Given the description of an element on the screen output the (x, y) to click on. 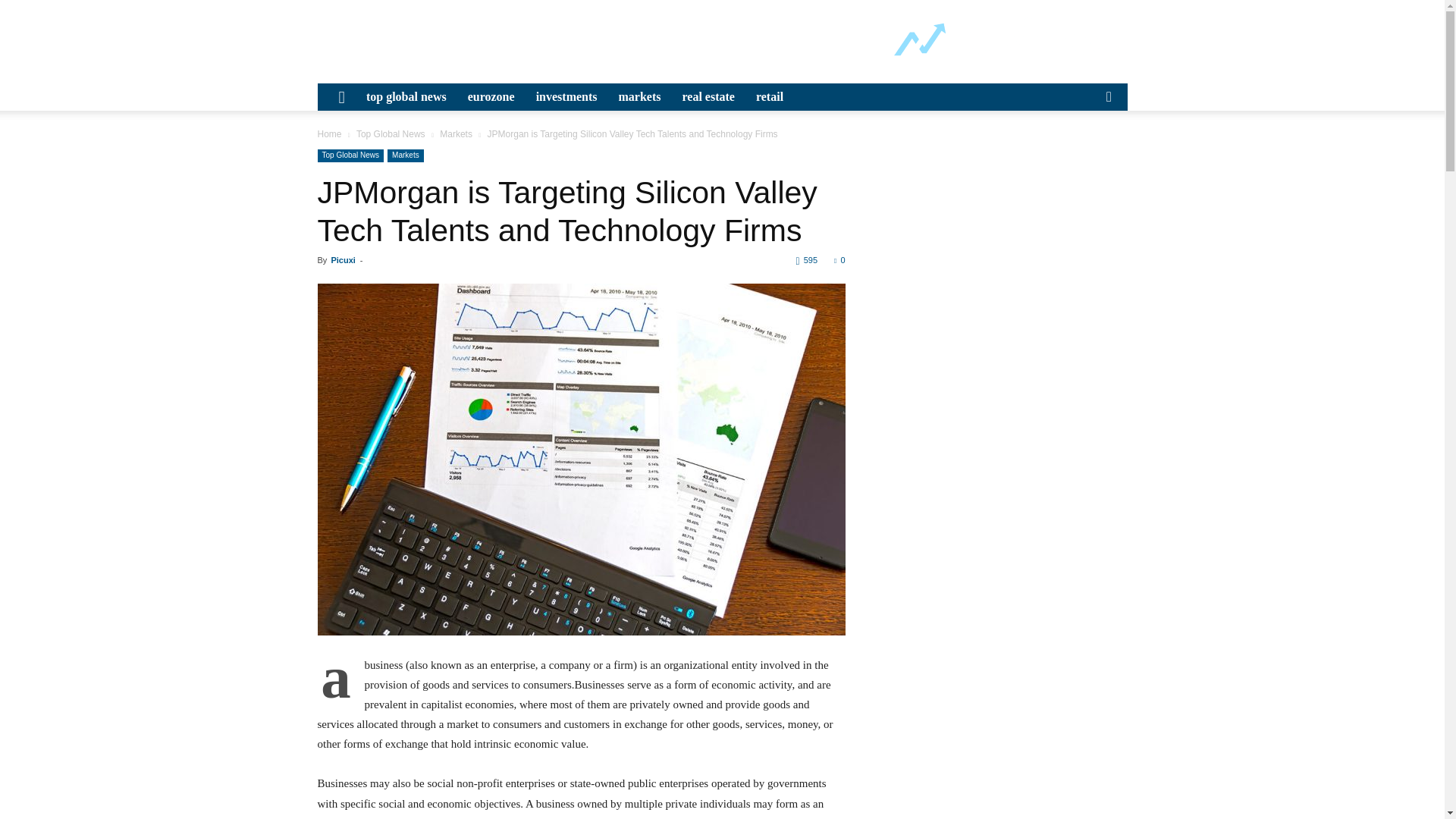
top global news (406, 96)
